Given the description of an element on the screen output the (x, y) to click on. 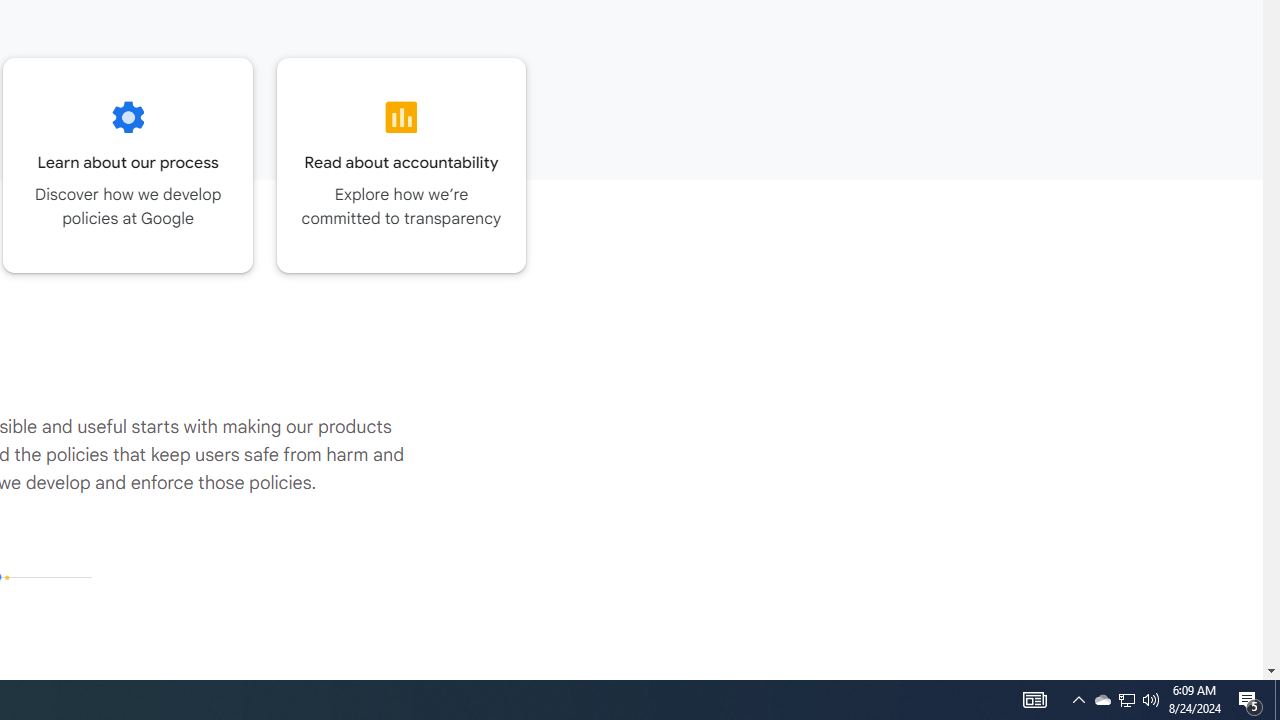
Go to the Our process page (127, 165)
Go to the Accountability page (401, 165)
